Given the description of an element on the screen output the (x, y) to click on. 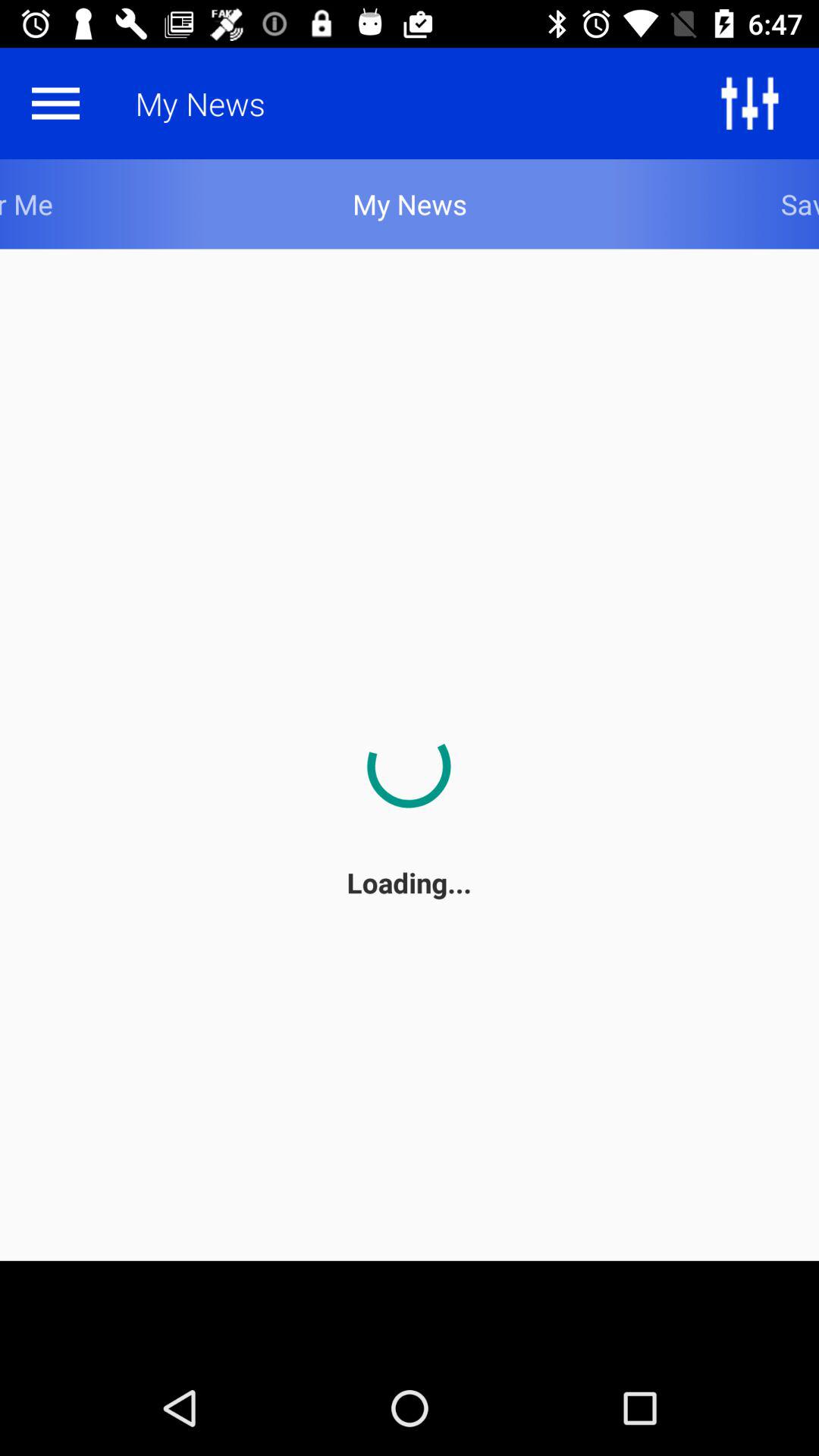
open menu (55, 103)
